Given the description of an element on the screen output the (x, y) to click on. 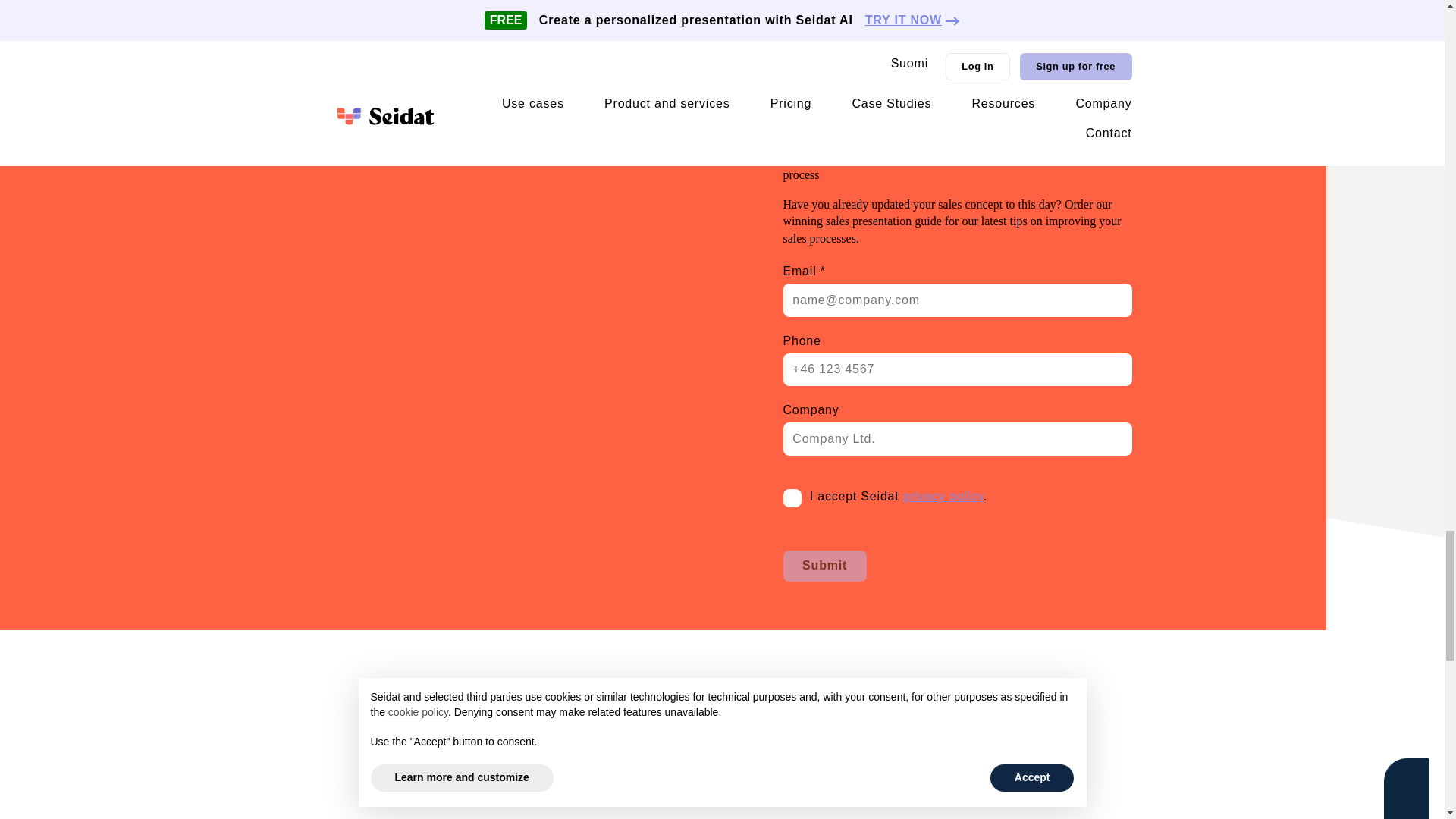
Submit (824, 566)
